Given the description of an element on the screen output the (x, y) to click on. 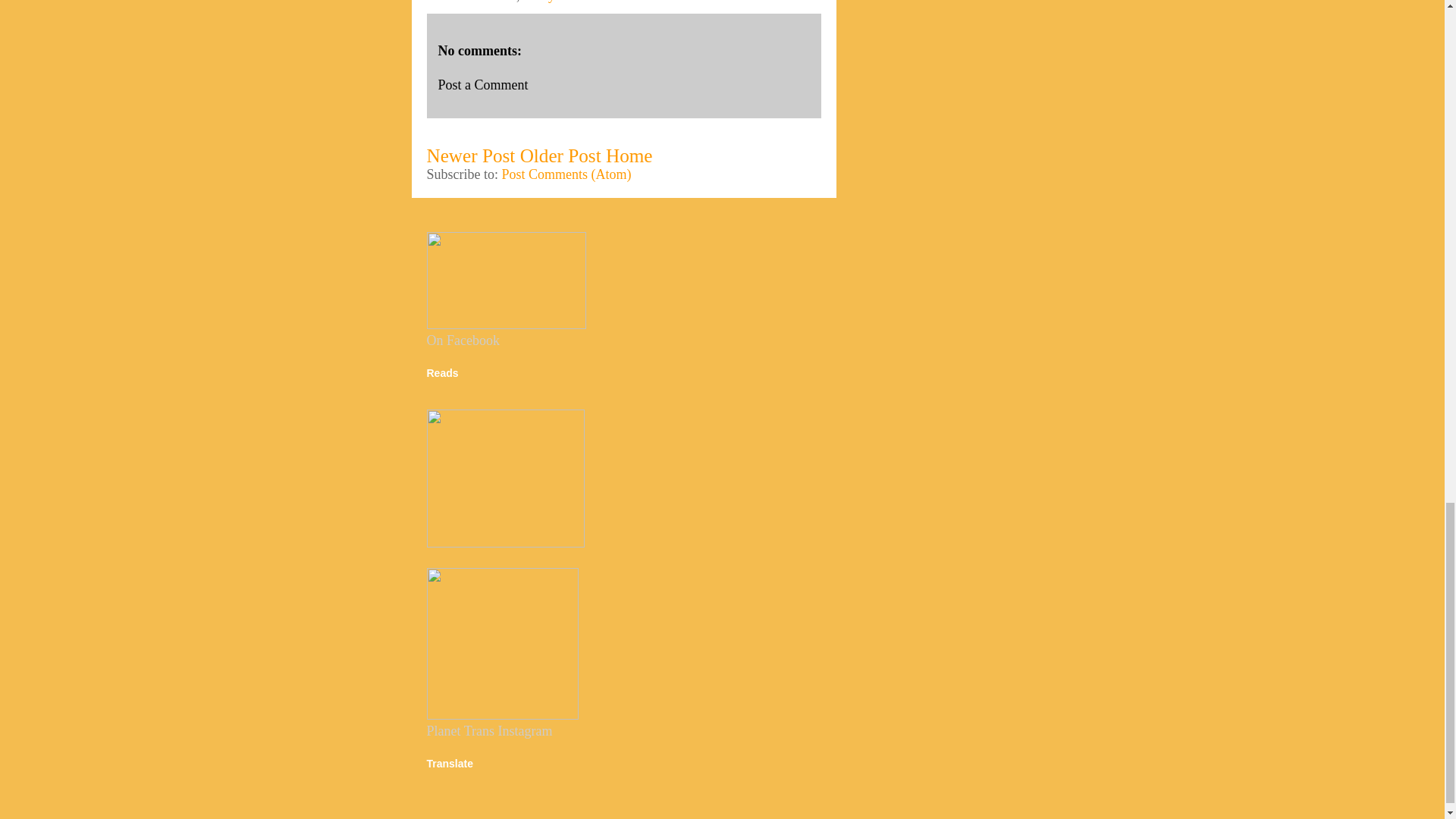
Newer Post (470, 155)
Home (628, 155)
Older Post (560, 155)
Post a Comment (483, 84)
Pussy Riot Protests (575, 1)
Older Post (560, 155)
Newer Post (470, 155)
FEMEN (493, 1)
